Given the description of an element on the screen output the (x, y) to click on. 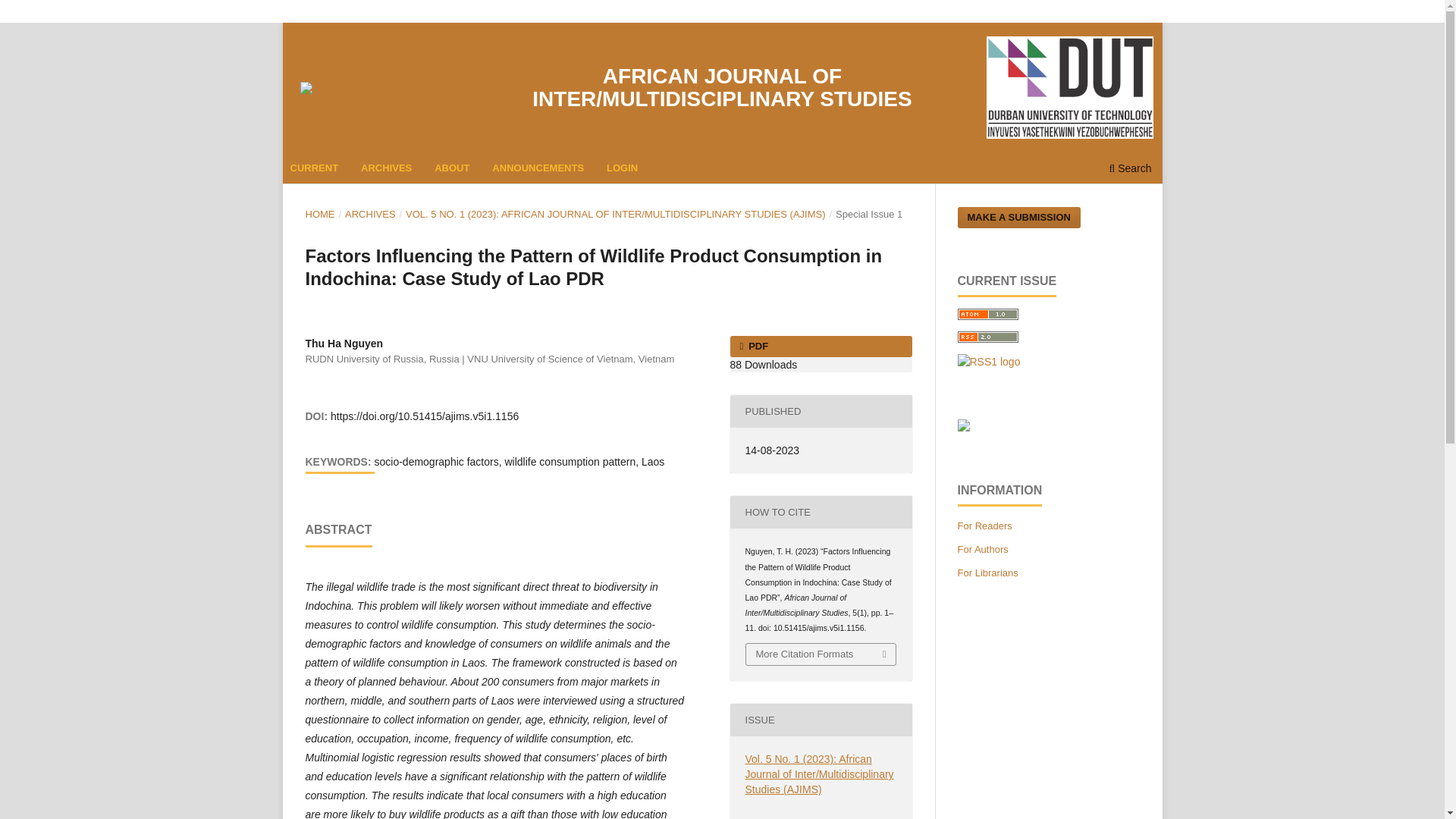
ANNOUNCEMENTS (538, 170)
HOME (319, 214)
LOGIN (622, 170)
More Citation Formats (820, 654)
ABOUT (451, 170)
Search (1129, 170)
CURRENT (314, 170)
ARCHIVES (370, 214)
ARCHIVES (386, 170)
PDF (820, 346)
